Given the description of an element on the screen output the (x, y) to click on. 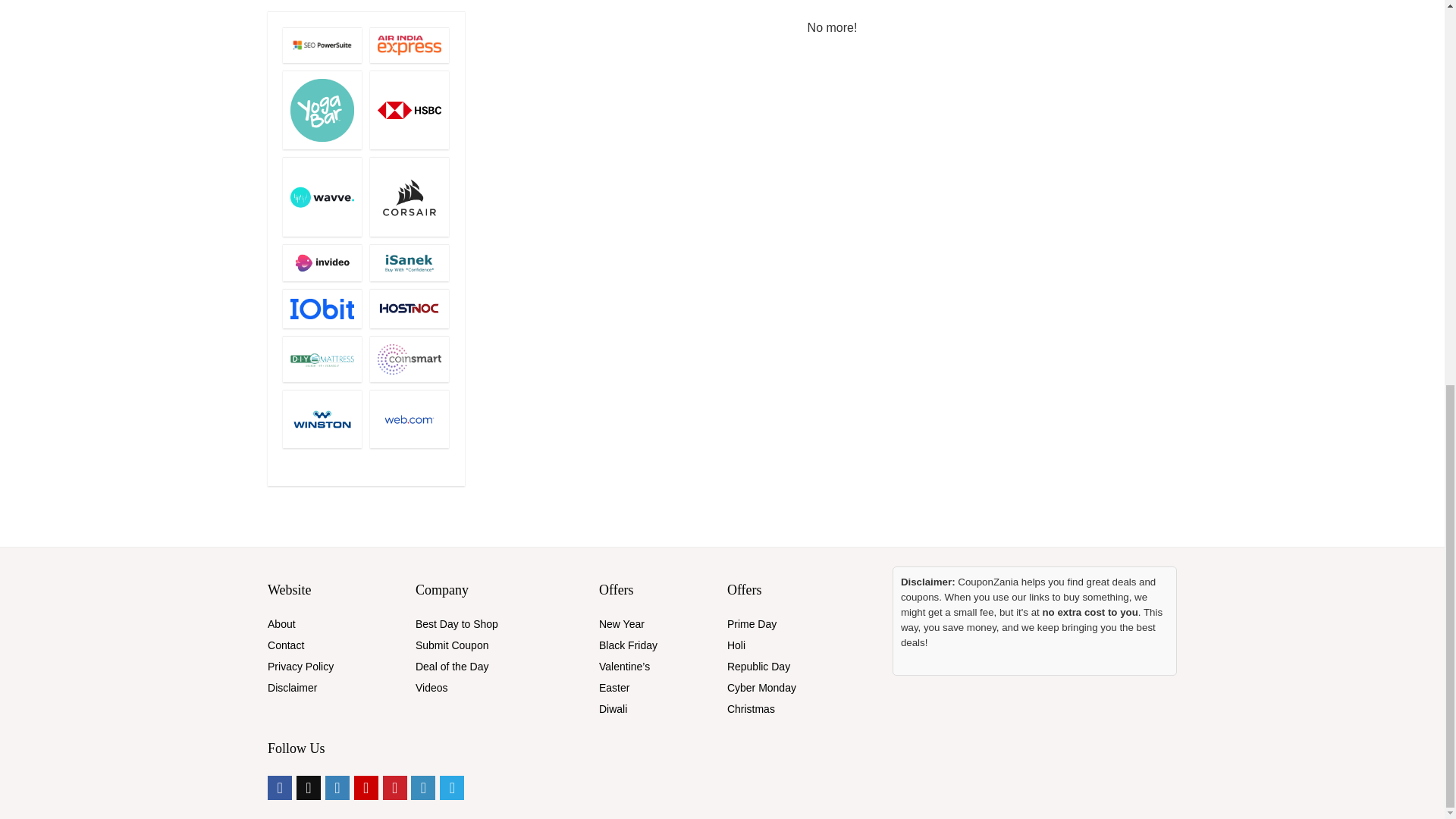
View all post filed under Wavve (321, 196)
About (281, 623)
View all post filed under Yoga Bar (321, 109)
View all post filed under SEO PowerSuite (321, 45)
View all post filed under Corsair (408, 196)
View all post filed under HSBC (408, 109)
View all post filed under HostNoc (408, 308)
View all post filed under Invideo (321, 262)
View all post filed under IObit (321, 308)
View all post filed under iSanek (408, 262)
View all post filed under Air India Express (408, 45)
View all post filed under DIY Mattress (321, 358)
